Given the description of an element on the screen output the (x, y) to click on. 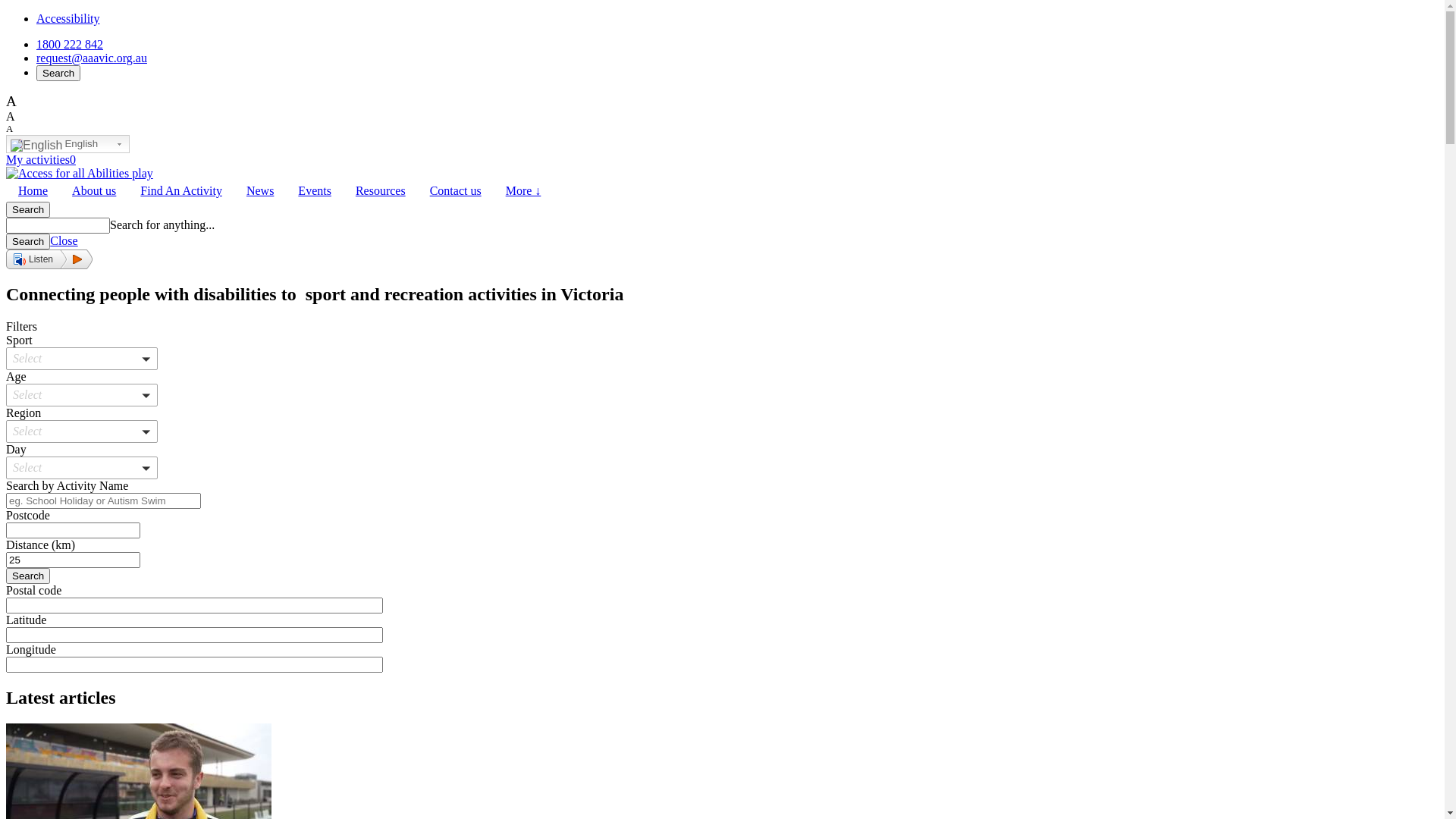
Search Element type: text (28, 575)
Listen Element type: text (49, 259)
Events Element type: text (314, 190)
Skip to main content Element type: text (6, 12)
About us Element type: text (93, 190)
Find An Activity Element type: text (181, 190)
Resources Element type: text (380, 190)
Close Element type: text (63, 240)
English Element type: text (67, 143)
Search Element type: text (28, 209)
1800 222 842 Element type: text (69, 43)
Accessibility Element type: text (68, 18)
request@aaavic.org.au Element type: text (91, 57)
Contact us Element type: text (455, 190)
My activities0 Element type: text (40, 159)
Search Element type: text (28, 241)
Search Element type: text (58, 73)
Home Element type: text (32, 190)
News Element type: text (259, 190)
